Given the description of an element on the screen output the (x, y) to click on. 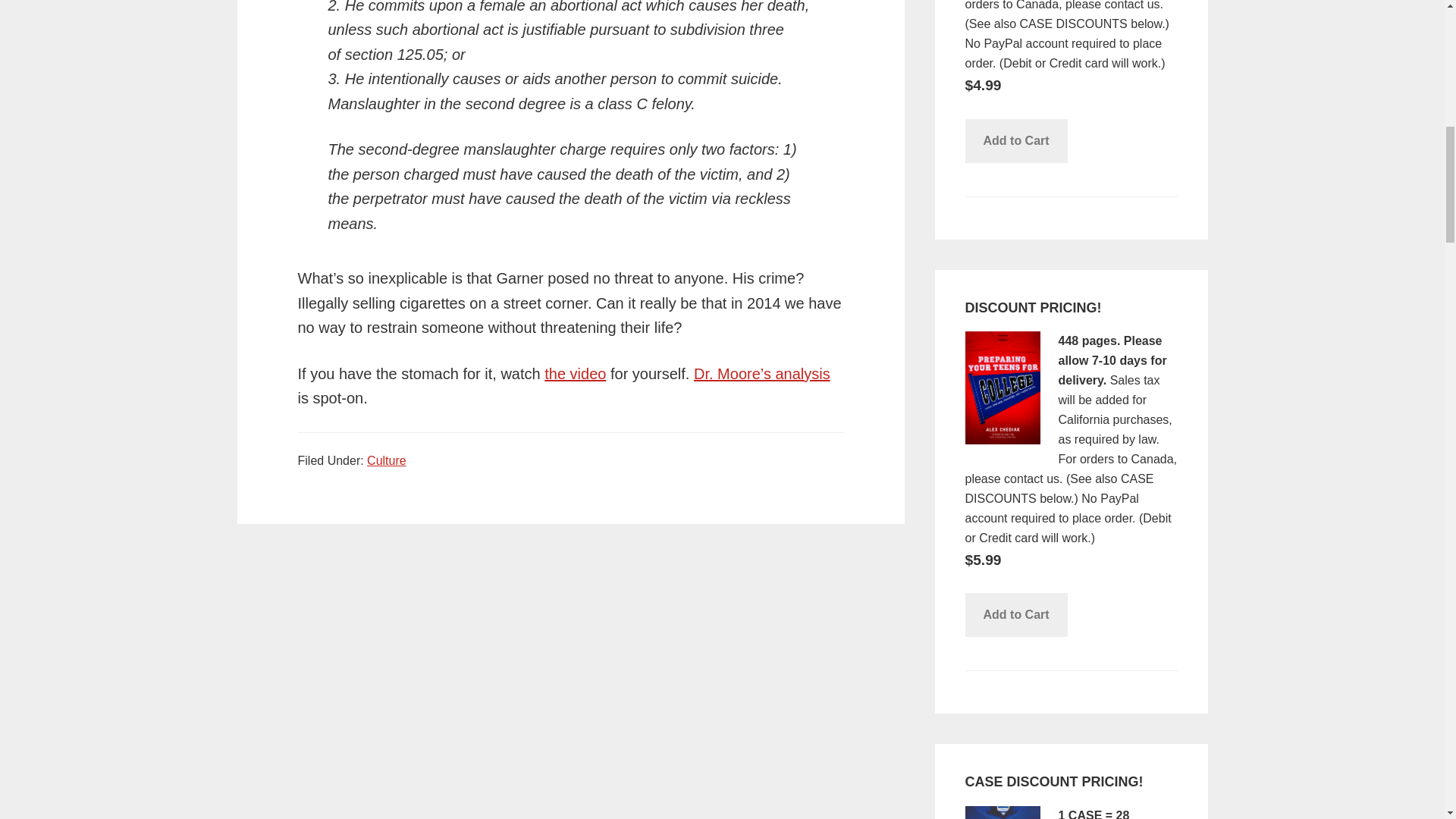
Add to Cart (1015, 140)
Add to Cart (1015, 614)
Thriving at College book cover (1001, 812)
